Given the description of an element on the screen output the (x, y) to click on. 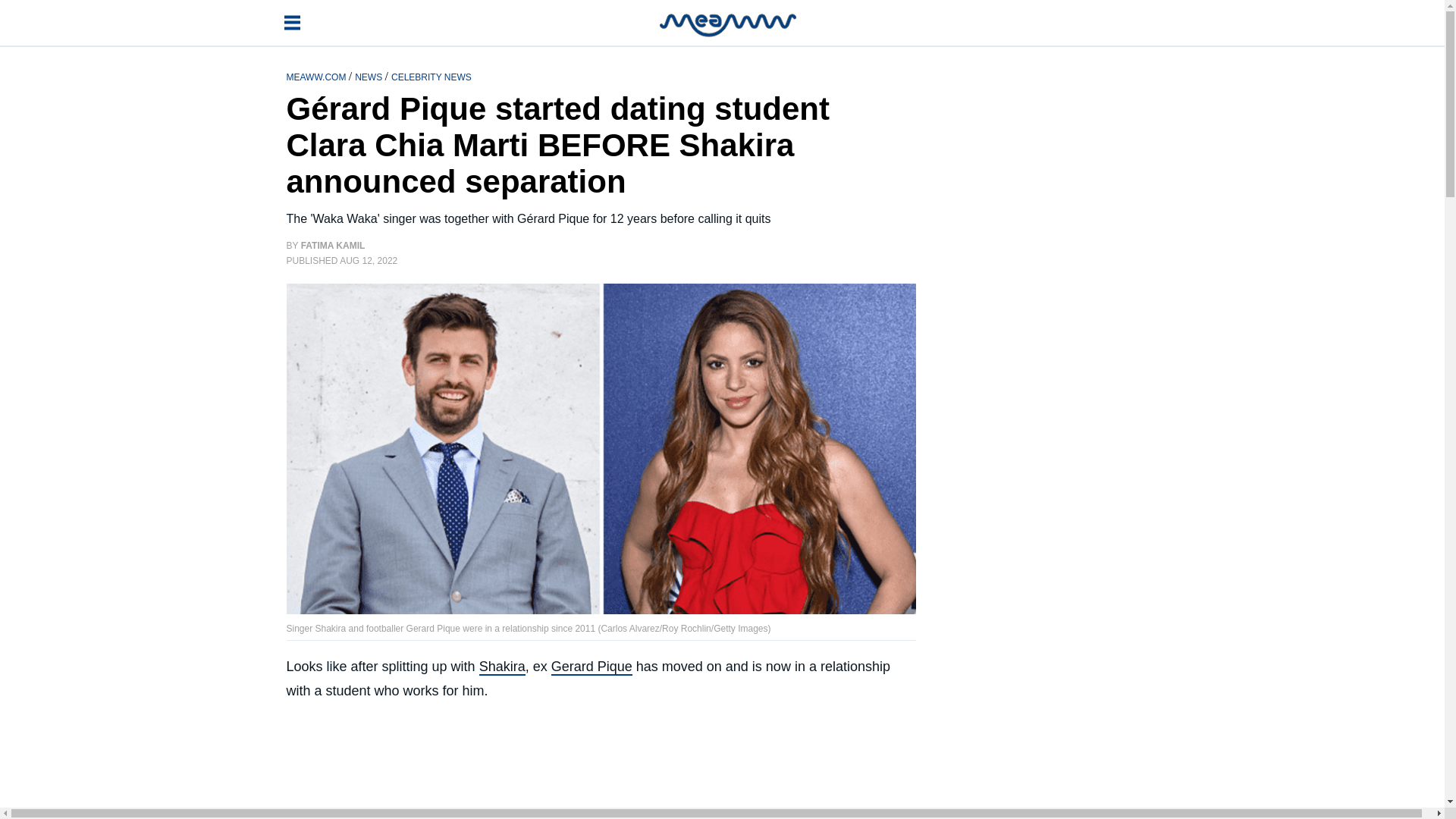
NEWS (369, 75)
FATIMA KAMIL (333, 245)
CELEBRITY NEWS (431, 75)
Shakira (502, 667)
Gerard Pique (591, 667)
MEAWW.COM (317, 75)
